Given the description of an element on the screen output the (x, y) to click on. 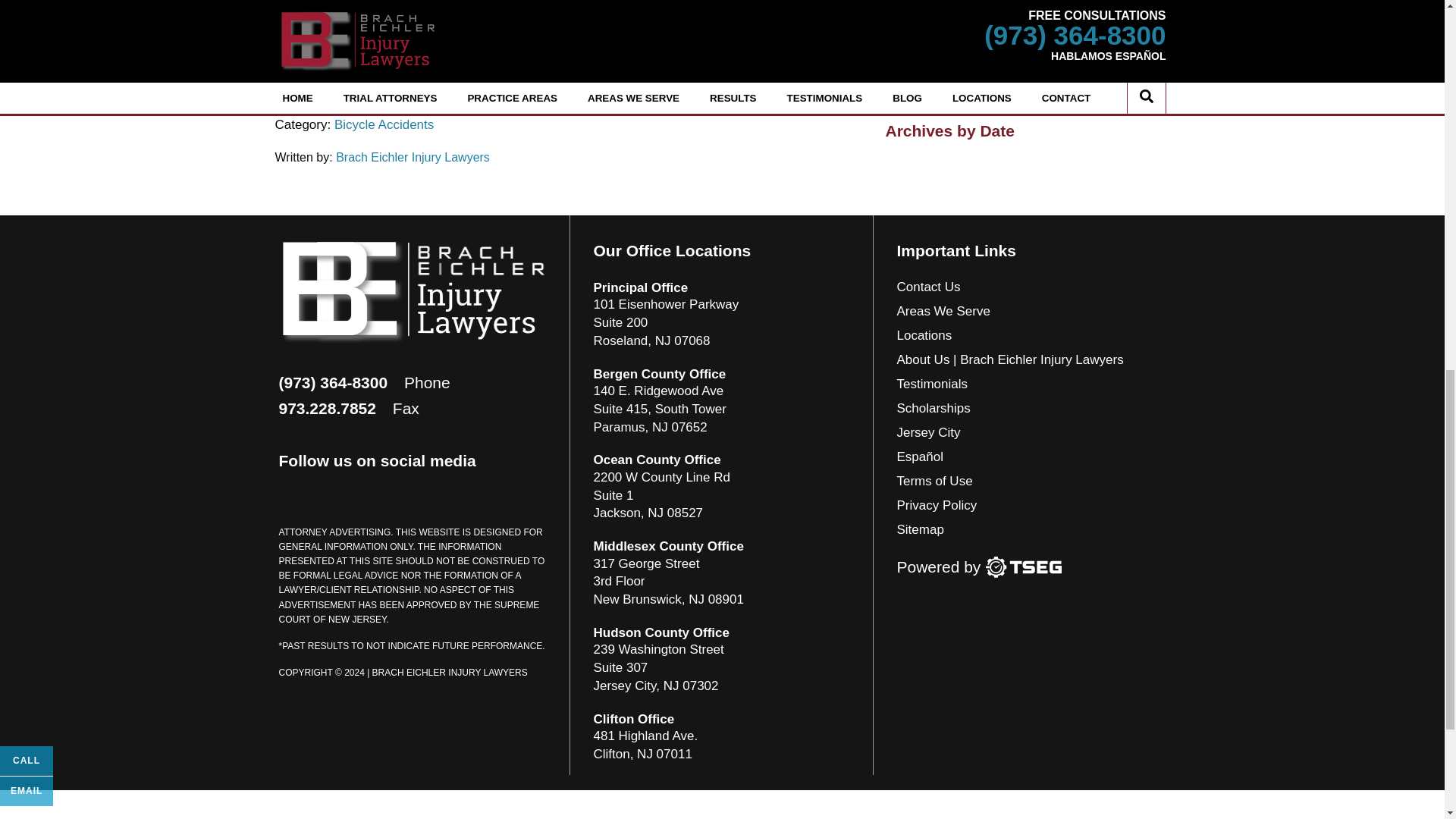
2022-04-12T21:25:11-0400 (373, 104)
